Given the description of an element on the screen output the (x, y) to click on. 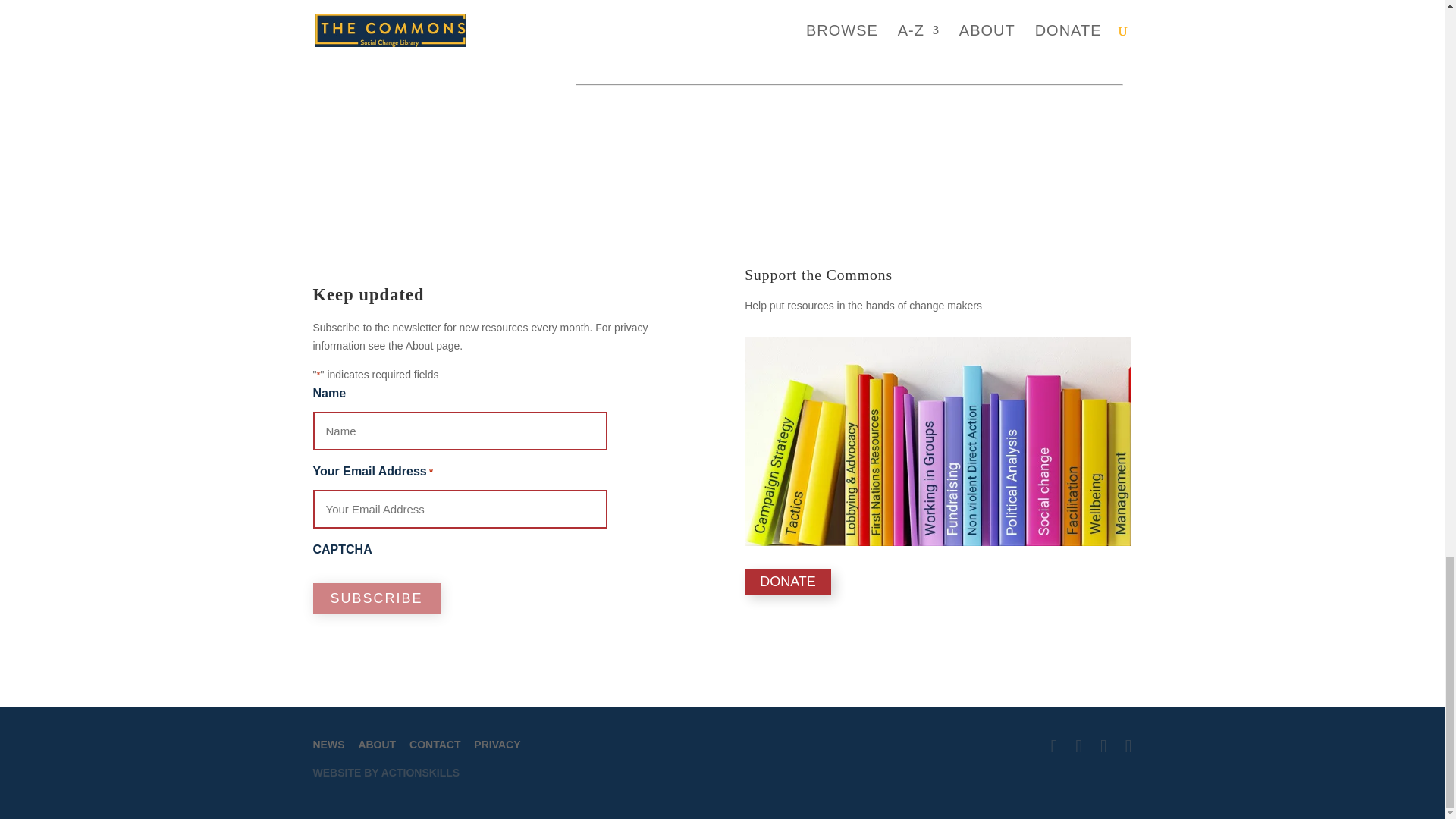
SUBSCRIBE (376, 598)
support (937, 441)
